Given the description of an element on the screen output the (x, y) to click on. 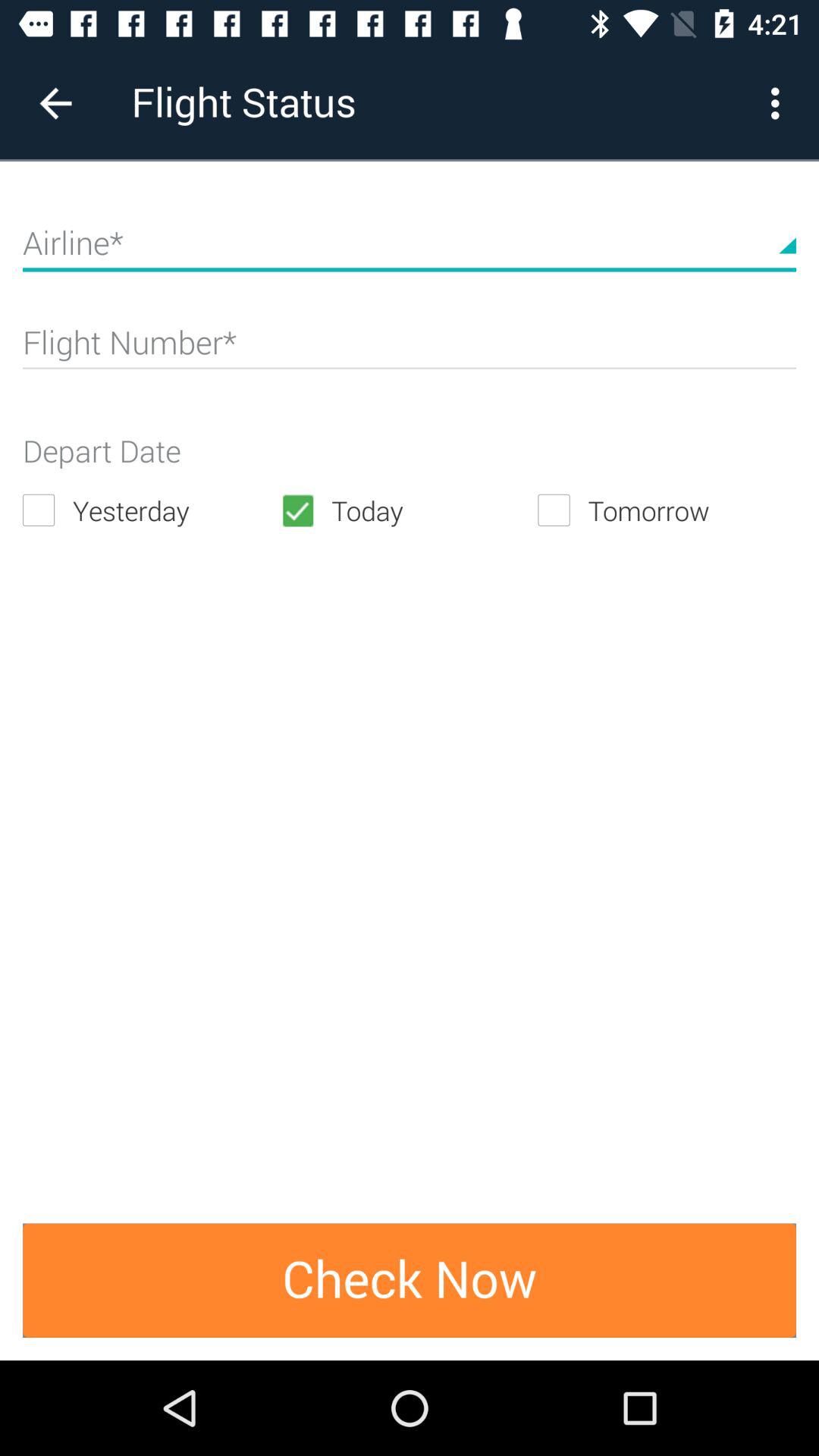
press yesterday (151, 510)
